Given the description of an element on the screen output the (x, y) to click on. 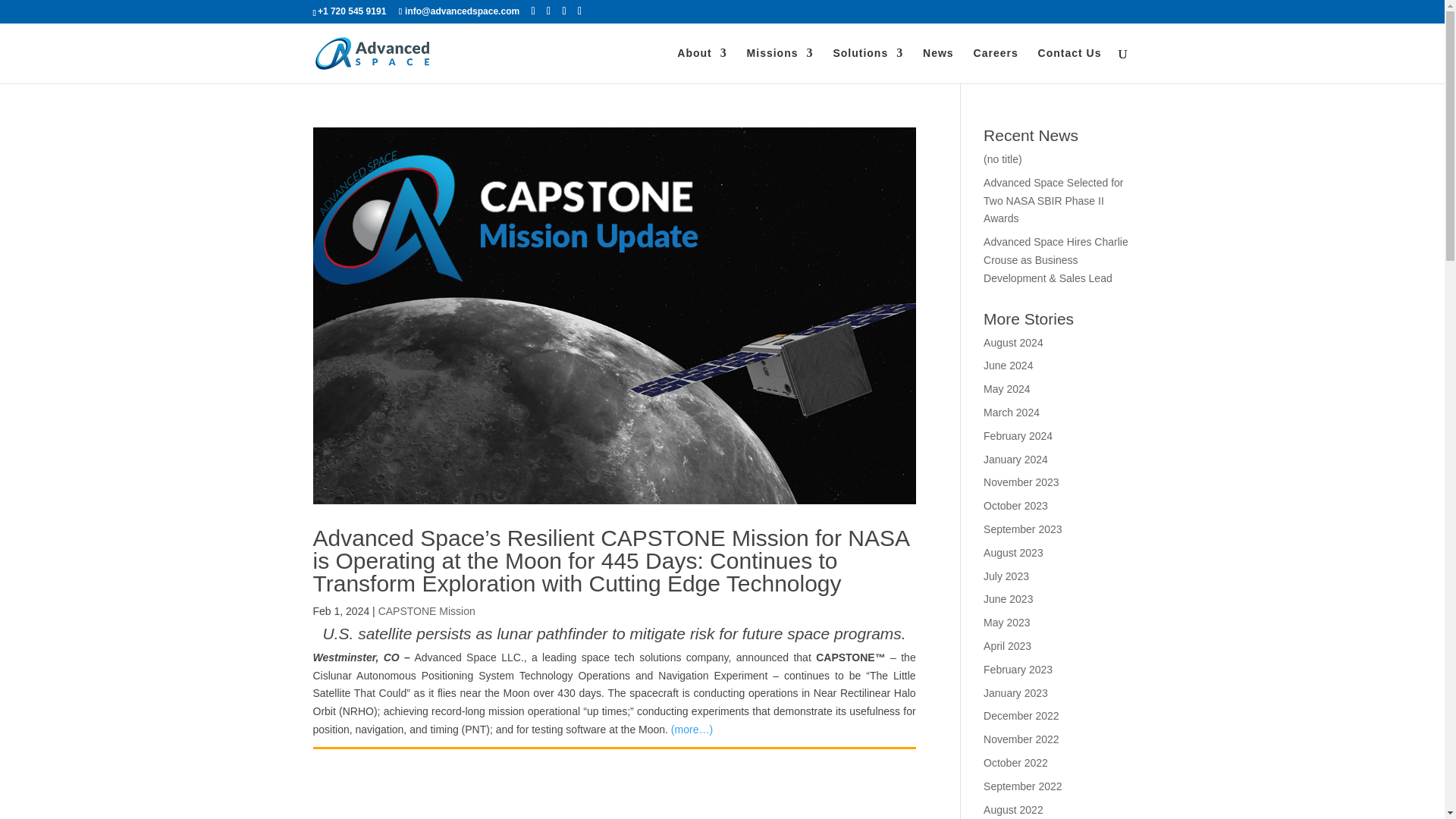
About (701, 65)
Solutions (867, 65)
Careers (995, 65)
Missions (779, 65)
Contact Us (1070, 65)
